Given the description of an element on the screen output the (x, y) to click on. 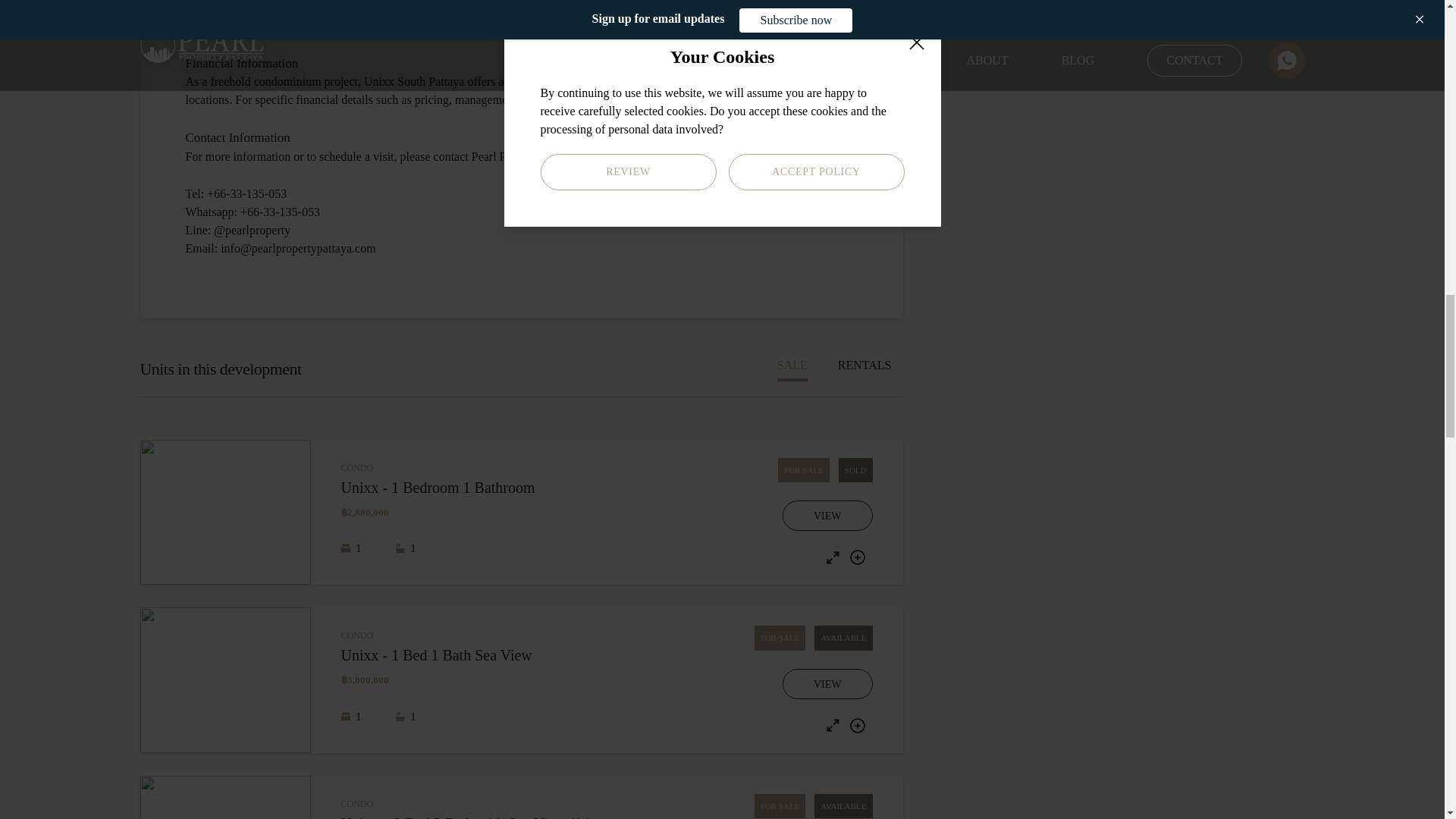
Compare (856, 725)
Preview (833, 725)
Compare (856, 556)
Unixx - 1 Bed 1 Bath Sea View (473, 654)
Preview (833, 557)
Unixx - 1 Bedroom 1 Bathroom (473, 486)
